Given the description of an element on the screen output the (x, y) to click on. 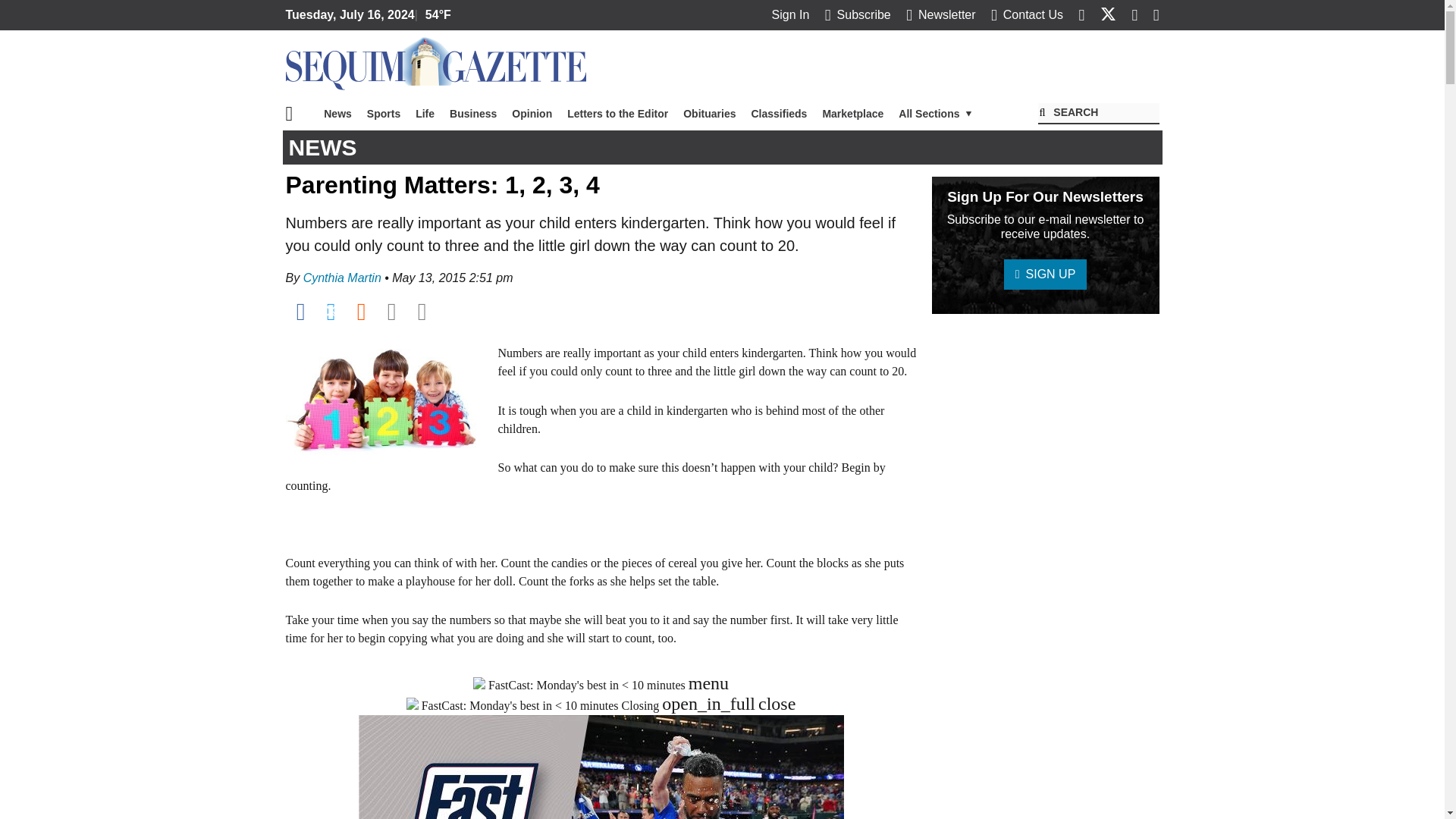
All Sections (935, 113)
Subscribe (858, 14)
Sports (383, 113)
Marketplace (852, 113)
Obituaries (708, 113)
Letters to the Editor (617, 113)
Newsletter (940, 14)
Business (472, 113)
Post to Twitter (330, 311)
Find Us On Twitter (1108, 14)
Life (424, 113)
Print story (421, 311)
Classifieds (777, 113)
News (337, 113)
Current weather and forecast (434, 14)
